Given the description of an element on the screen output the (x, y) to click on. 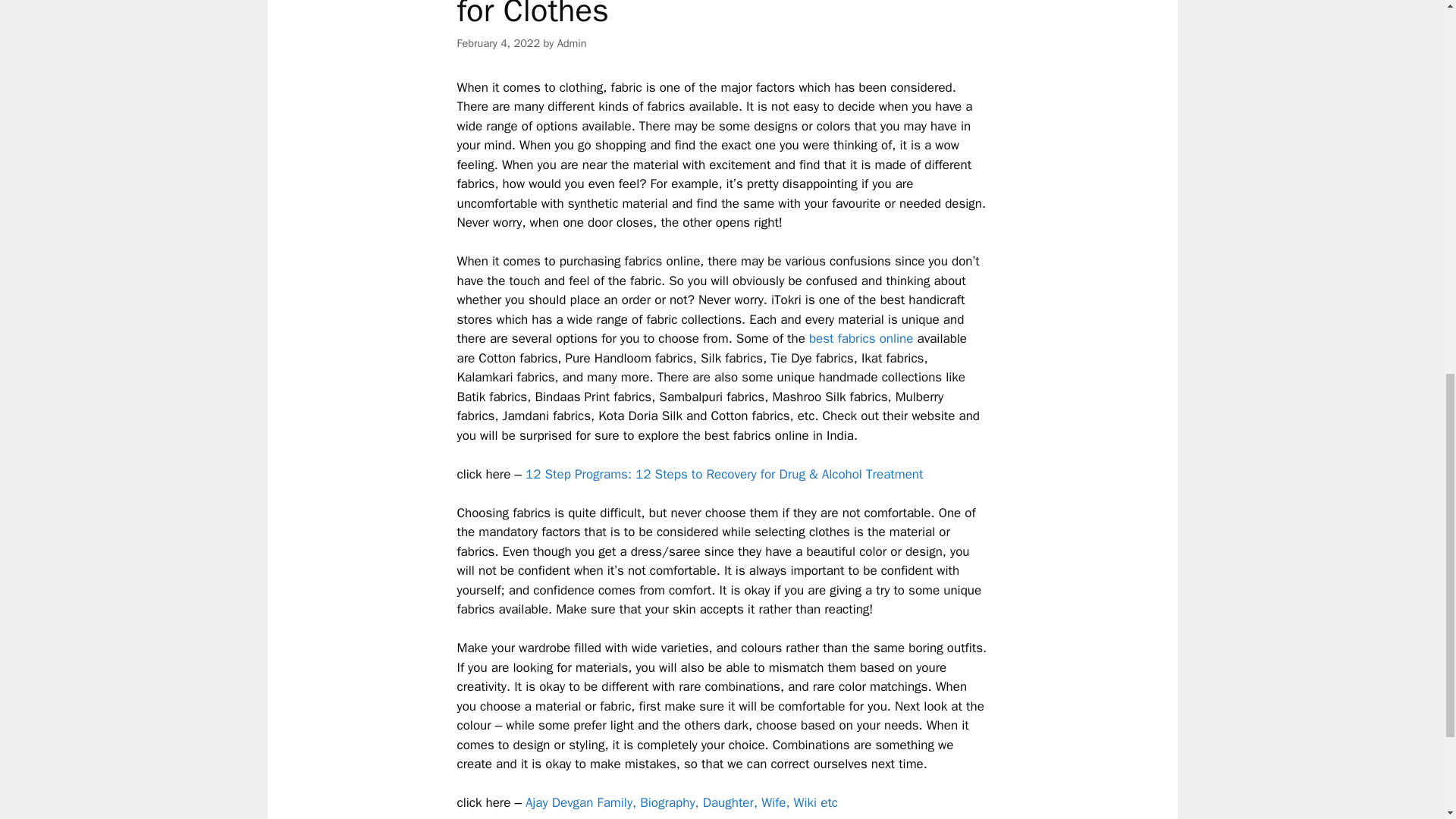
Ajay Devgan Family, Biography, Daughter, Wife, Wiki etc (681, 802)
Admin (571, 42)
View all posts by Admin (571, 42)
best fabrics online (860, 338)
